Given the description of an element on the screen output the (x, y) to click on. 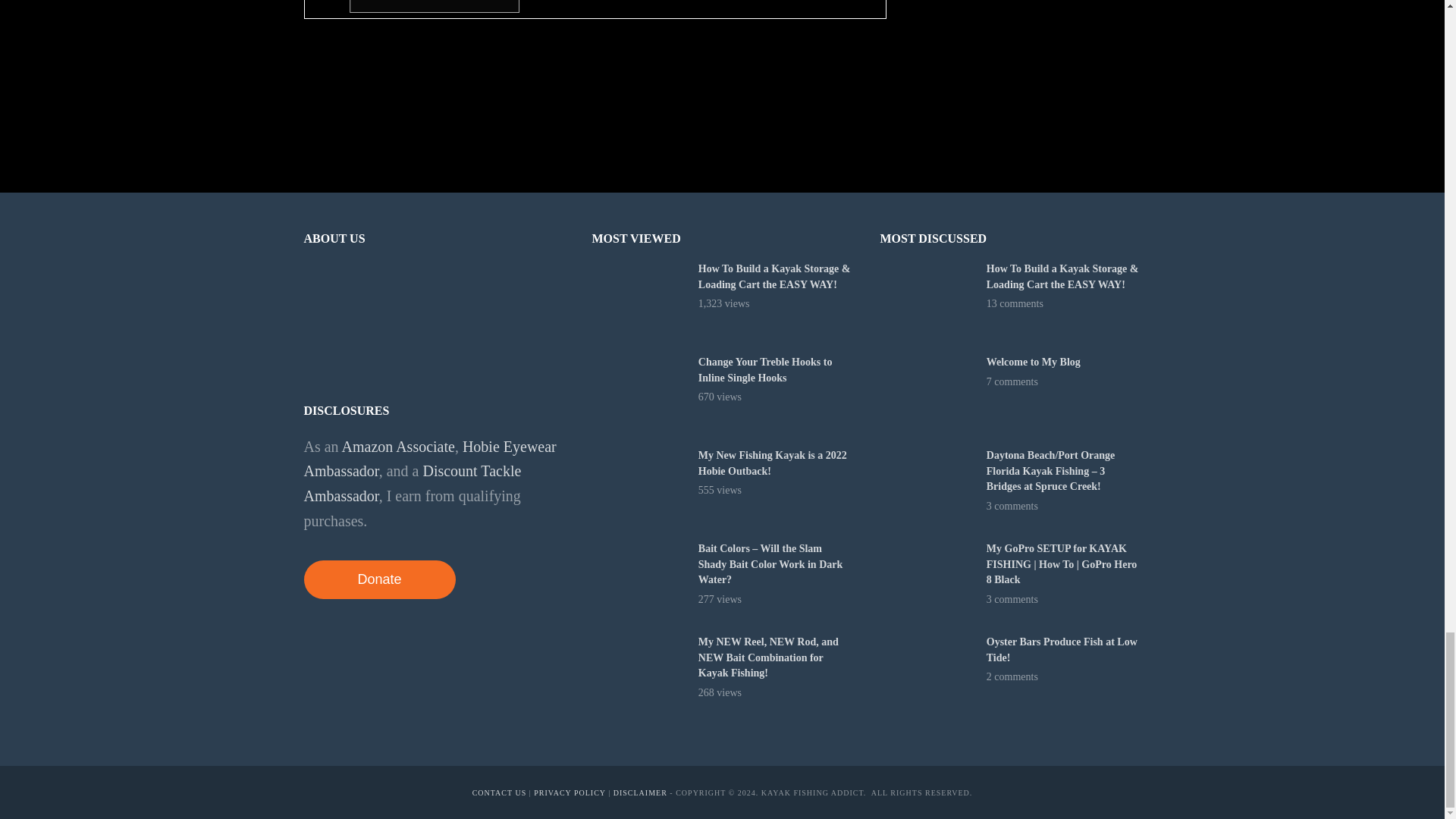
Change Your Treble Hooks to Inline Single Hooks (637, 394)
